Given the description of an element on the screen output the (x, y) to click on. 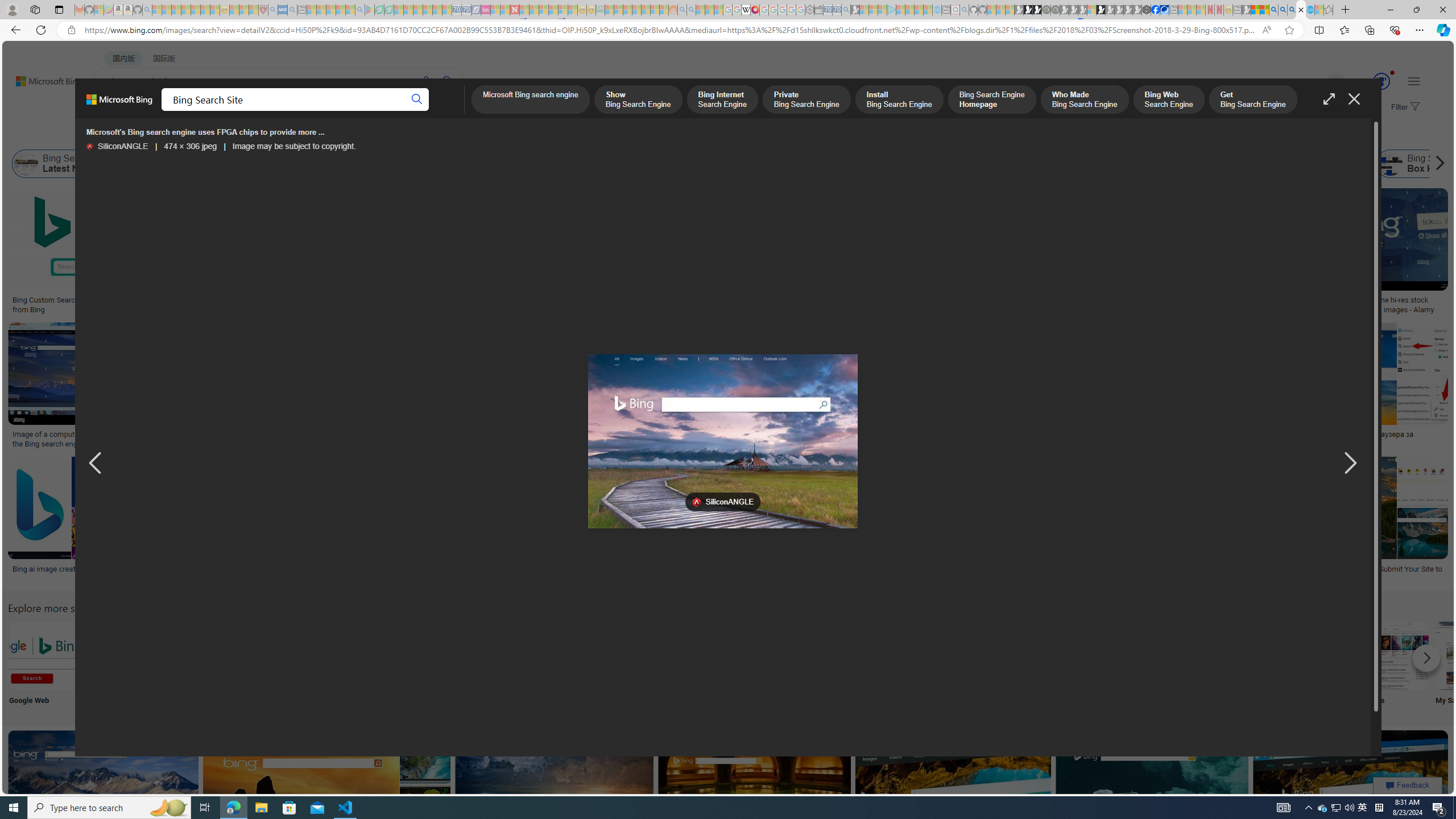
DICT (407, 111)
20 Reasons to Search With Bing | PCMag (621, 299)
Bing Search Terms (582, 163)
Color (173, 135)
2009 Bing officially replaced Live Search on June 3 - Search (1283, 9)
Pets - MSN - Sleeping (340, 9)
Bing Real Estate - Home sales and rental listings - Sleeping (846, 9)
Bing Mugs (802, 296)
Image Search Bing Engine (241, 434)
Search button (417, 99)
App Icon (418, 665)
